Given the description of an element on the screen output the (x, y) to click on. 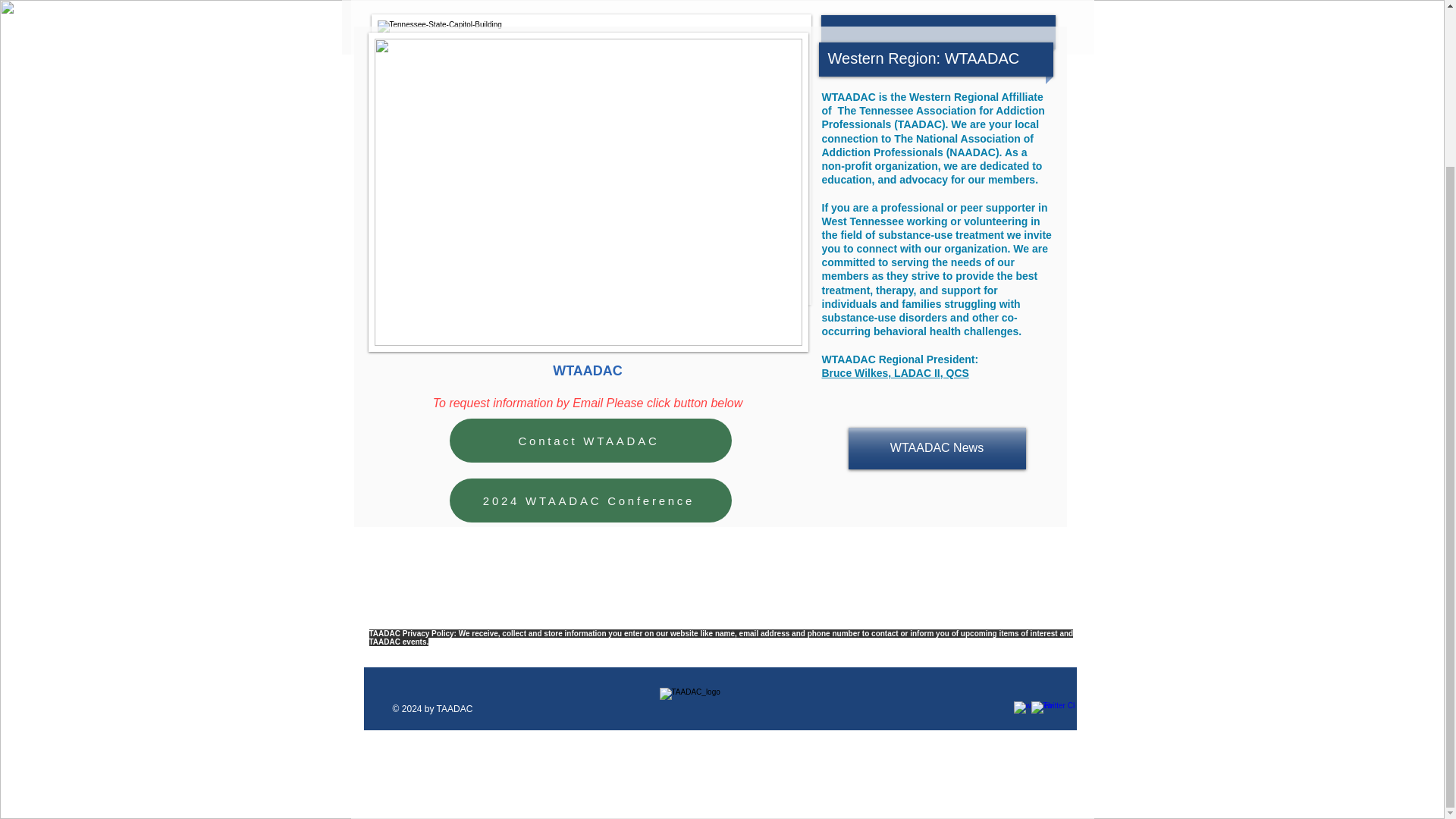
WTAADAC News (936, 448)
2024 WTAADAC Conference (589, 500)
Bruce Wilkes, LADAC II, QCS (895, 372)
Contact WTAADAC (589, 440)
